Given the description of an element on the screen output the (x, y) to click on. 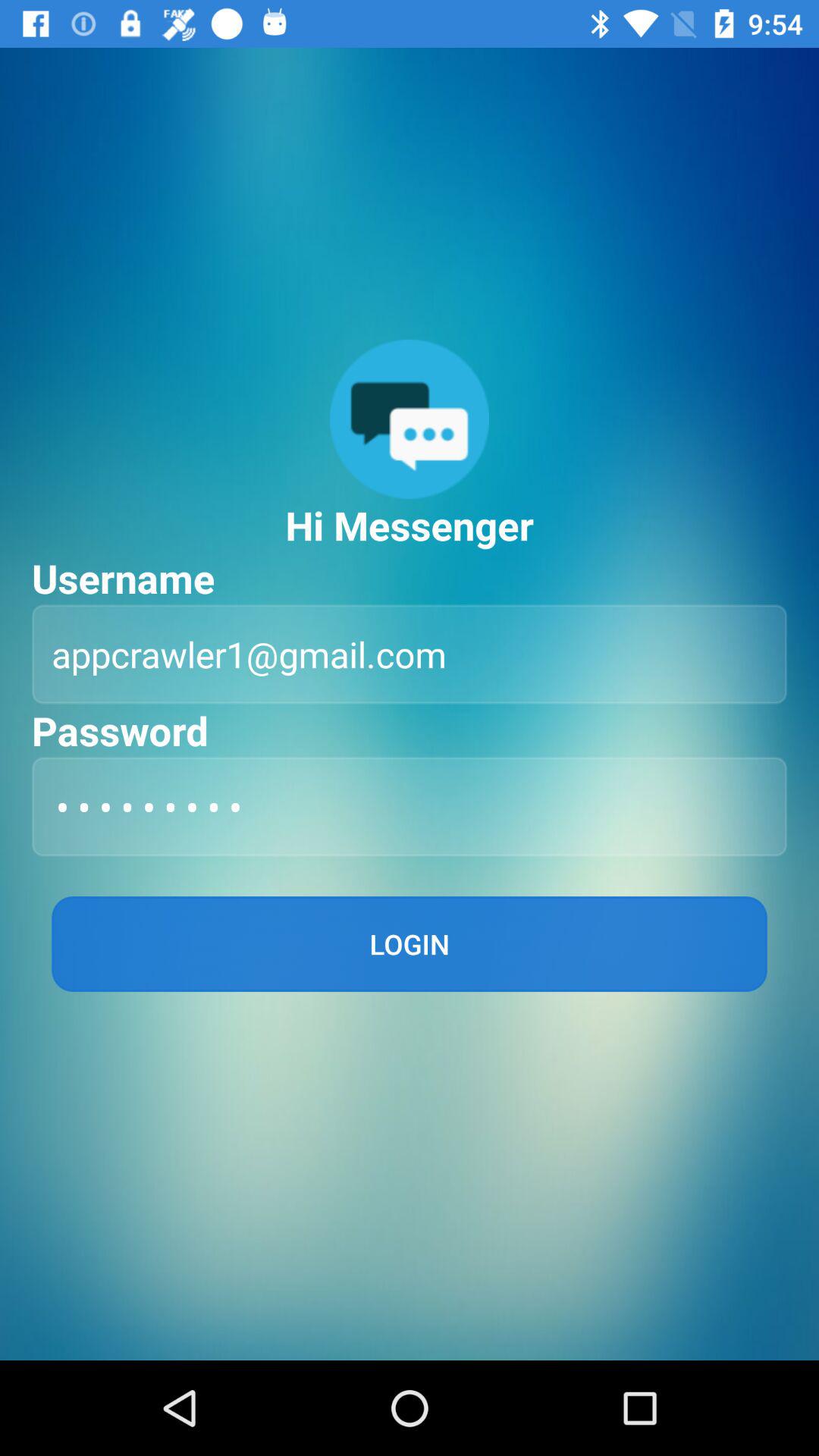
open login (409, 943)
